Given the description of an element on the screen output the (x, y) to click on. 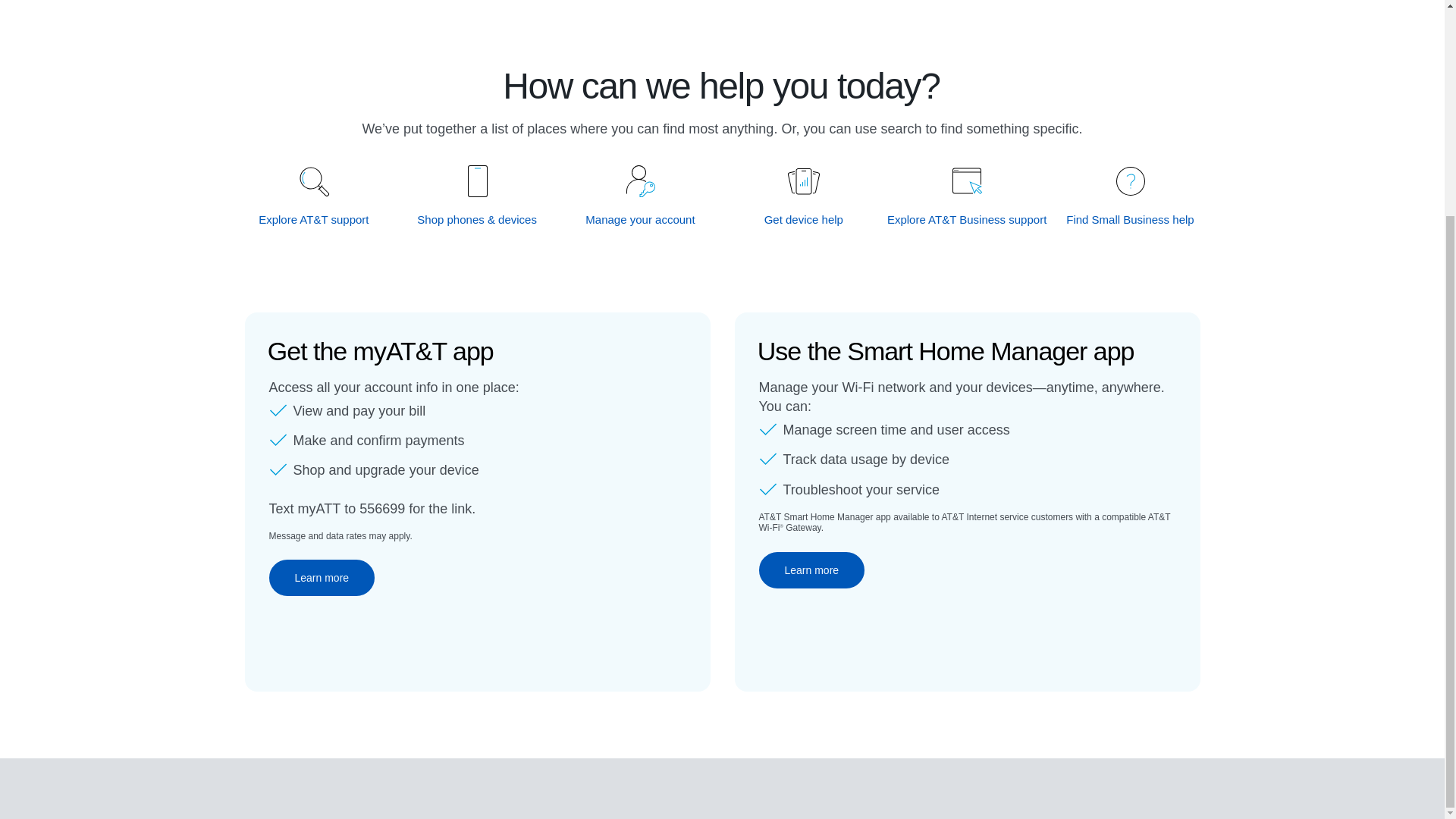
Learn more (320, 577)
Manage your account (640, 219)
Find Small Business help (1130, 219)
Get device help (803, 219)
Learn more (811, 570)
